Given the description of an element on the screen output the (x, y) to click on. 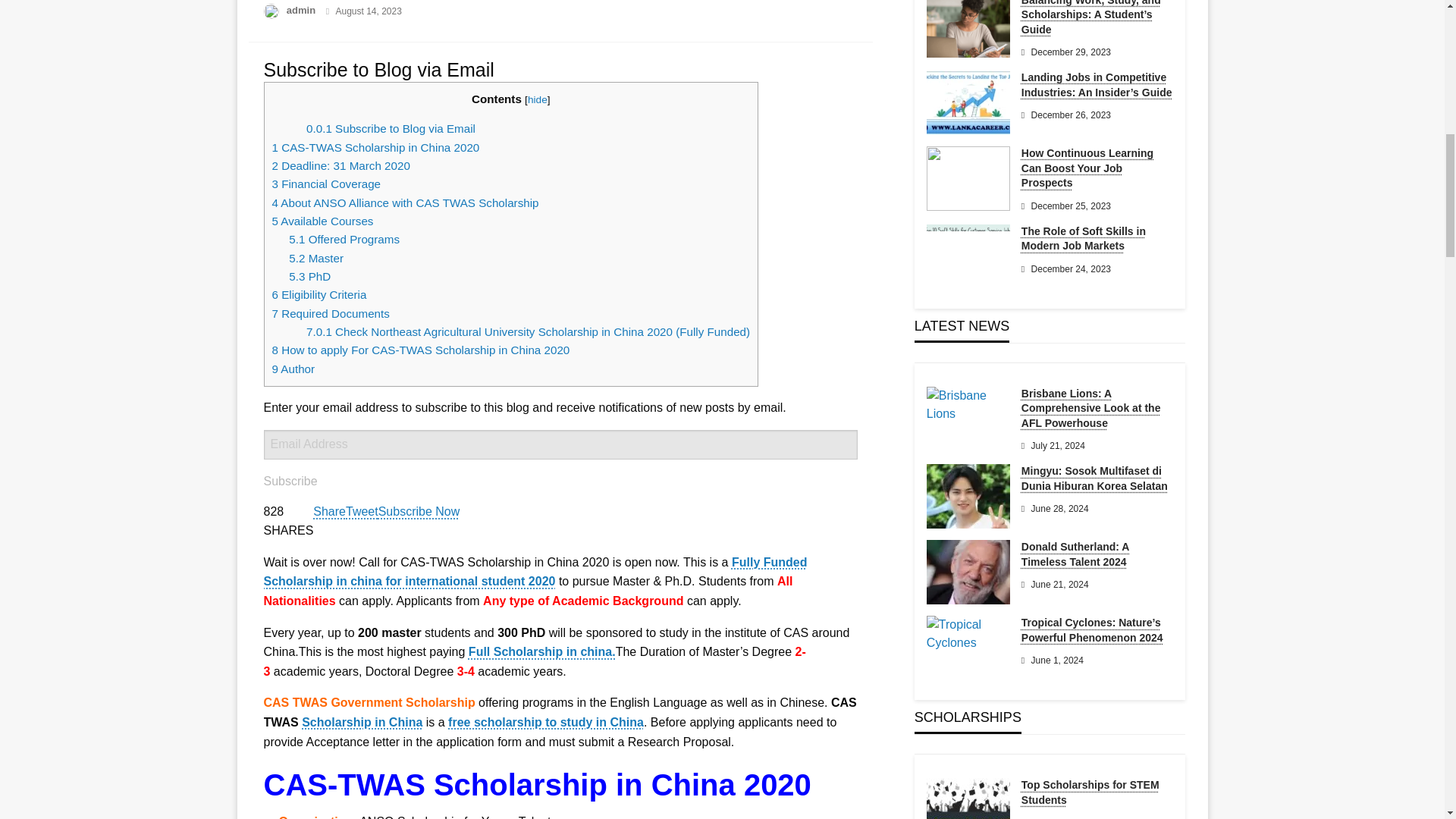
admin (302, 9)
4 About ANSO Alliance with CAS TWAS Scholarship (404, 202)
hide (537, 99)
admin (302, 9)
0.0.1 Subscribe to Blog via Email (390, 128)
August 14, 2023 (367, 10)
5 Available Courses  (322, 220)
2 Deadline: 31 March 2020 (339, 164)
3 Financial Coverage (325, 183)
1 CAS-TWAS Scholarship in China 2020 (374, 146)
